Given the description of an element on the screen output the (x, y) to click on. 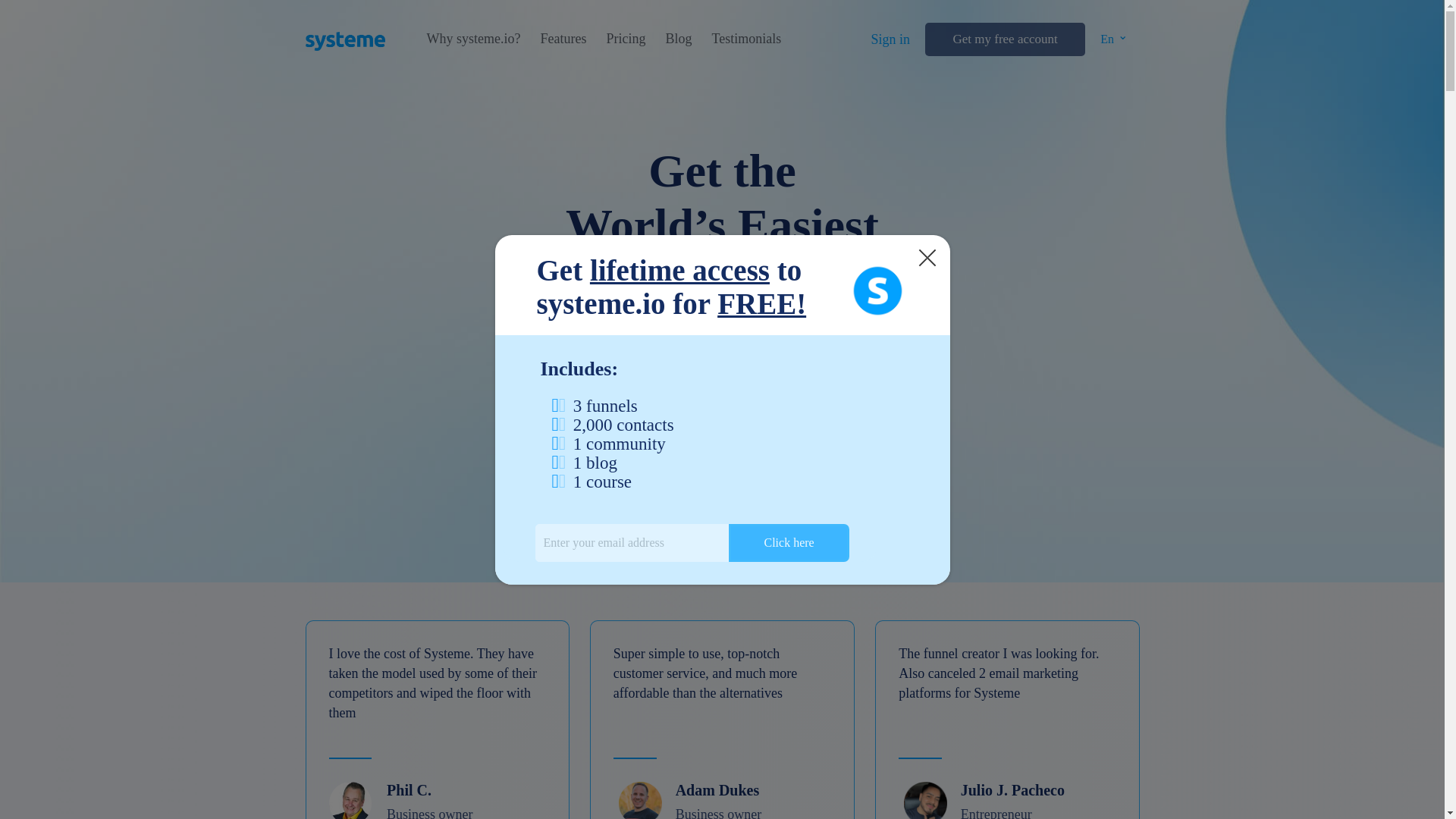
Blog (678, 38)
Get my free account (1004, 39)
Sign in (890, 39)
Features (563, 38)
Why systeme.io? (472, 38)
Pricing (625, 38)
Testimonials (745, 38)
